Given the description of an element on the screen output the (x, y) to click on. 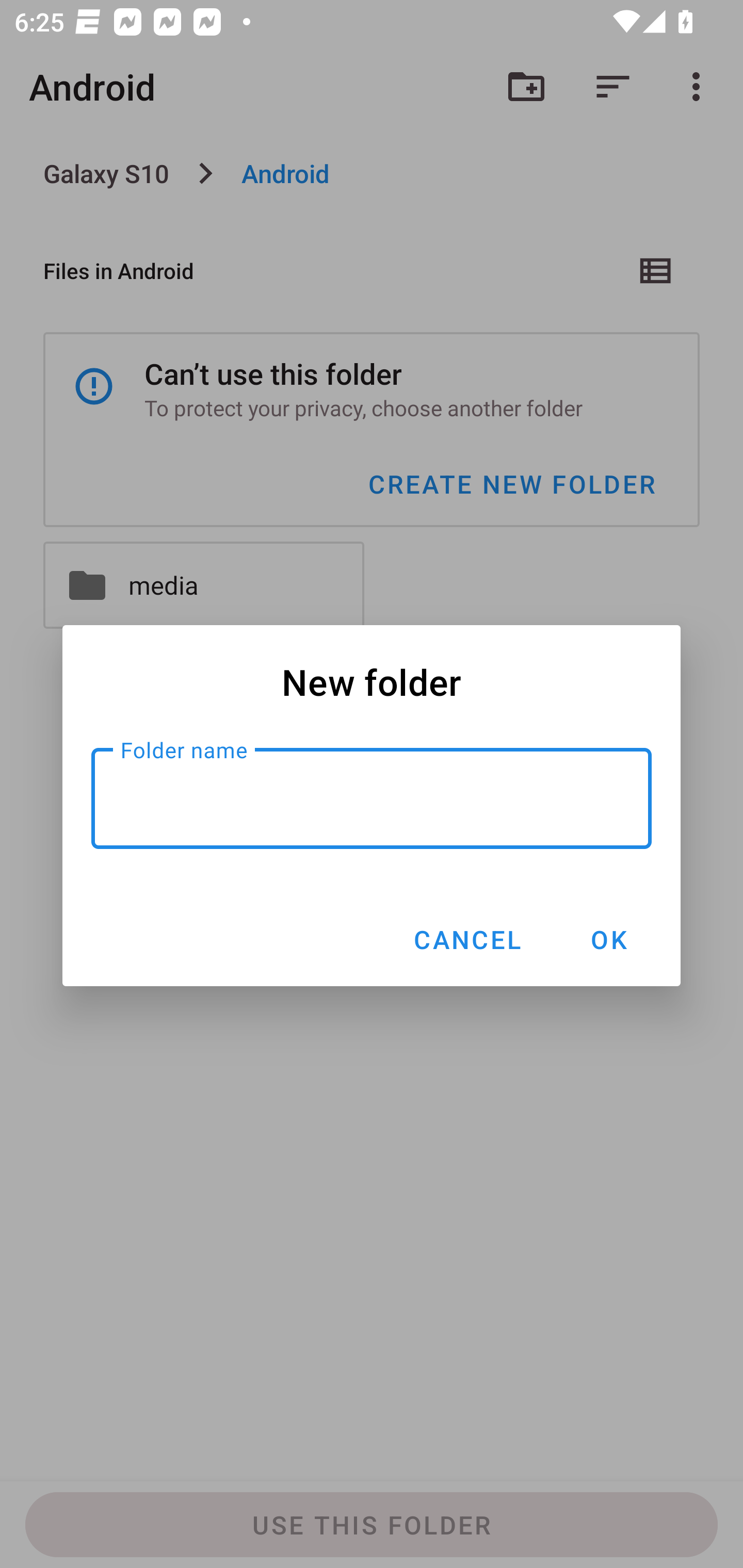
Folder name (371, 797)
CANCEL (466, 939)
OK (608, 939)
